Given the description of an element on the screen output the (x, y) to click on. 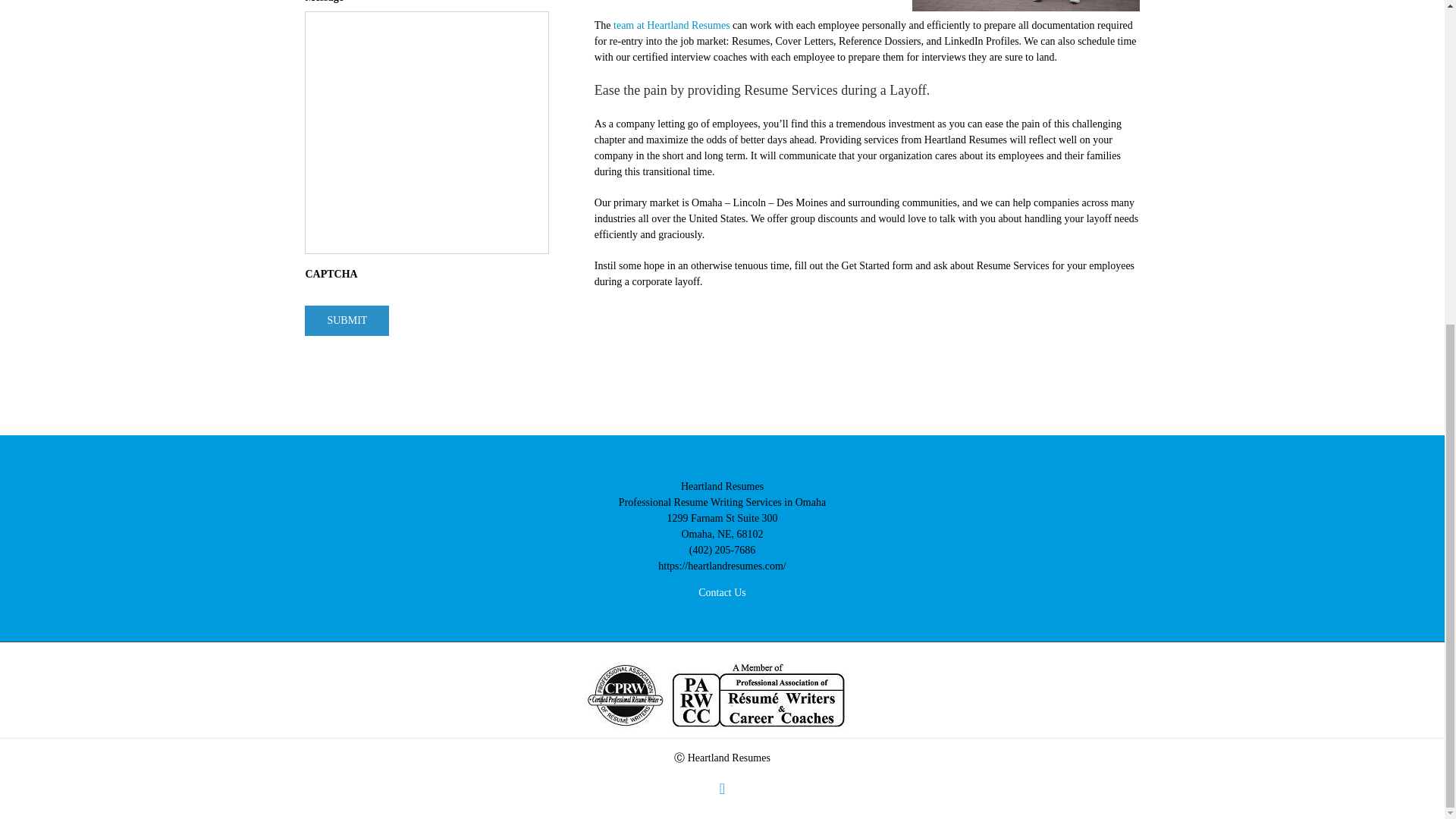
Submit (346, 320)
Submit (346, 320)
Contact Us (721, 592)
team at Heartland Resumes (671, 25)
